Given the description of an element on the screen output the (x, y) to click on. 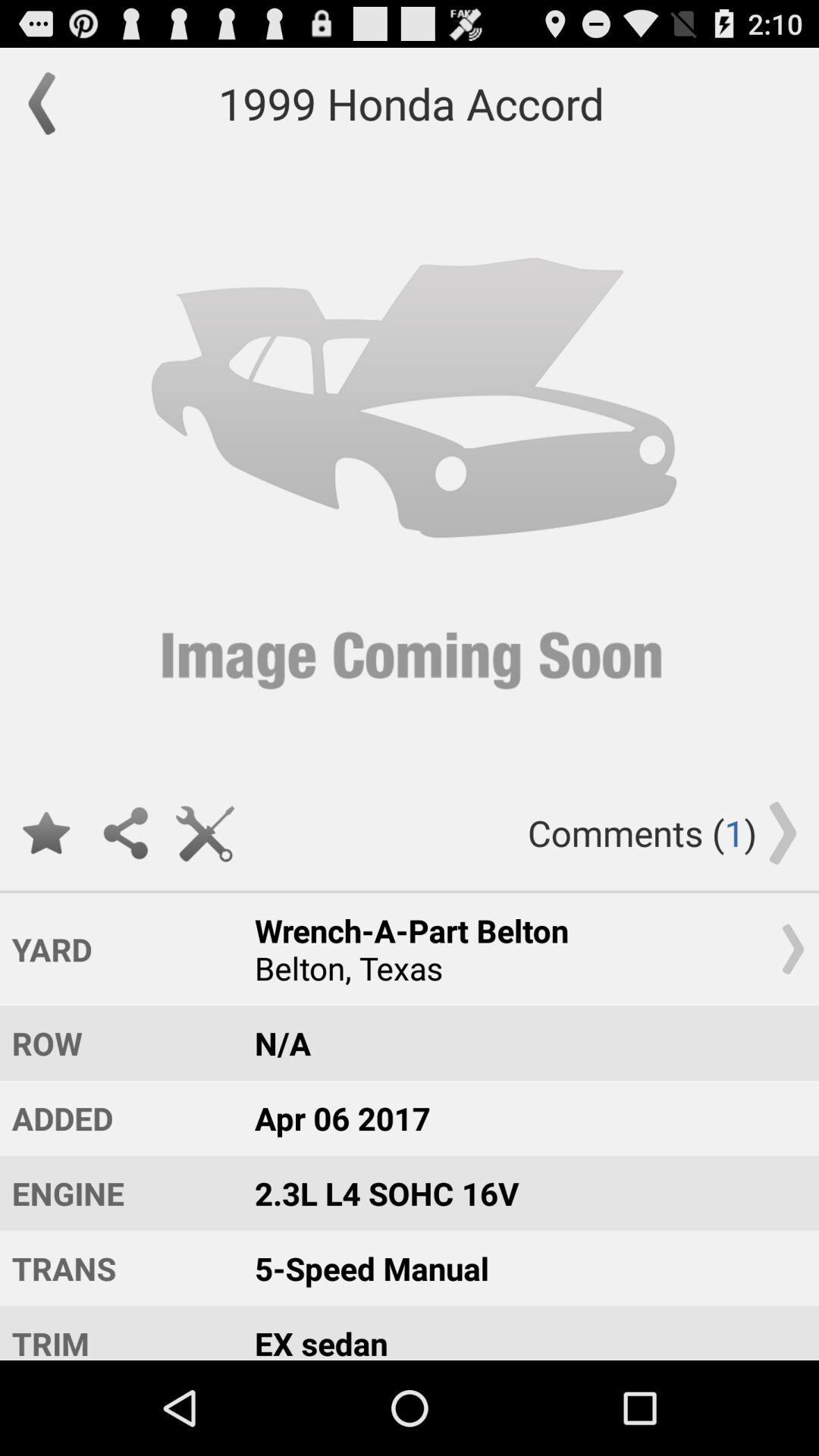
select wrench a part at the center (522, 948)
